Given the description of an element on the screen output the (x, y) to click on. 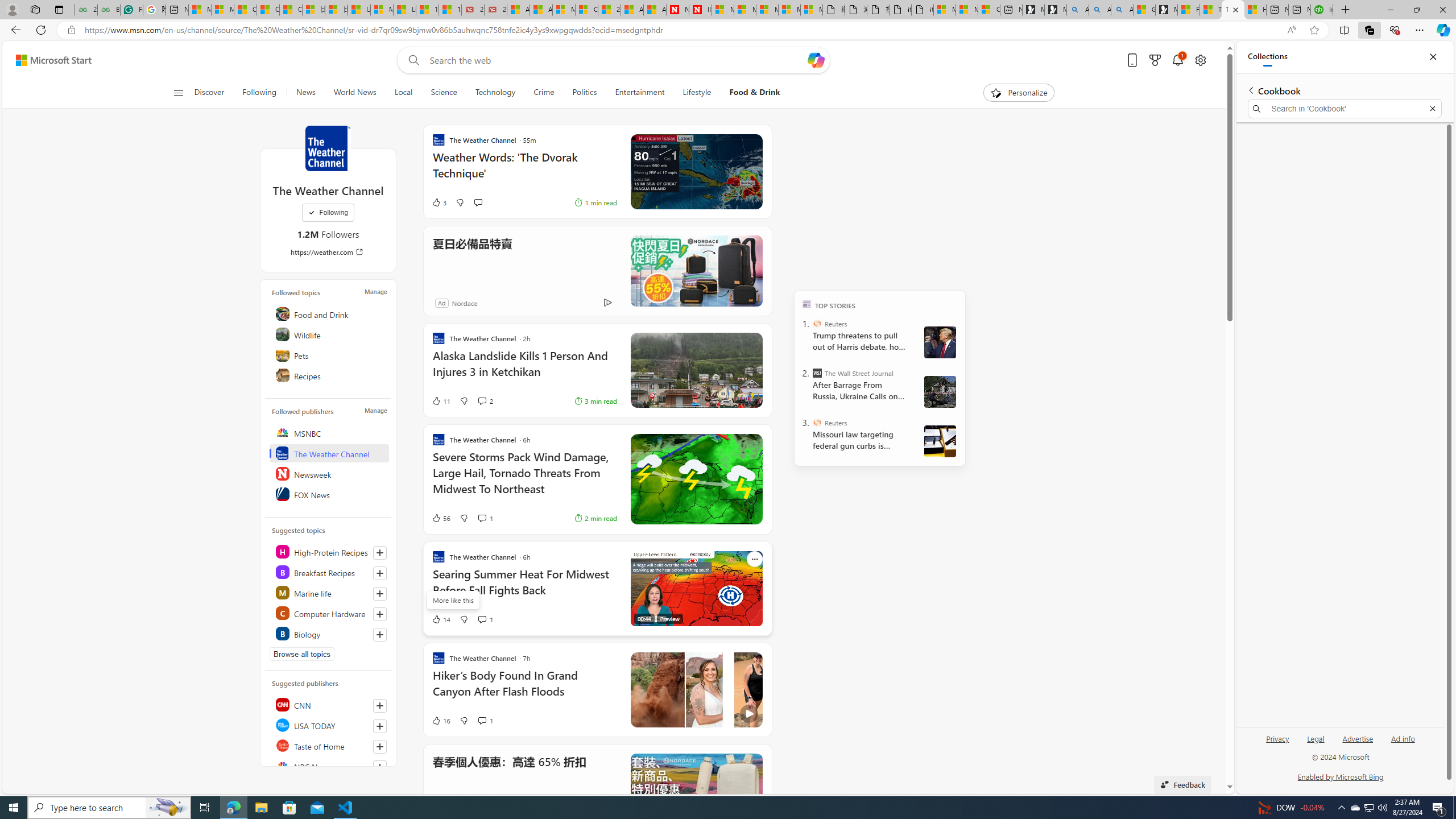
56 Like (440, 517)
https://weather.com (327, 251)
